Given the description of an element on the screen output the (x, y) to click on. 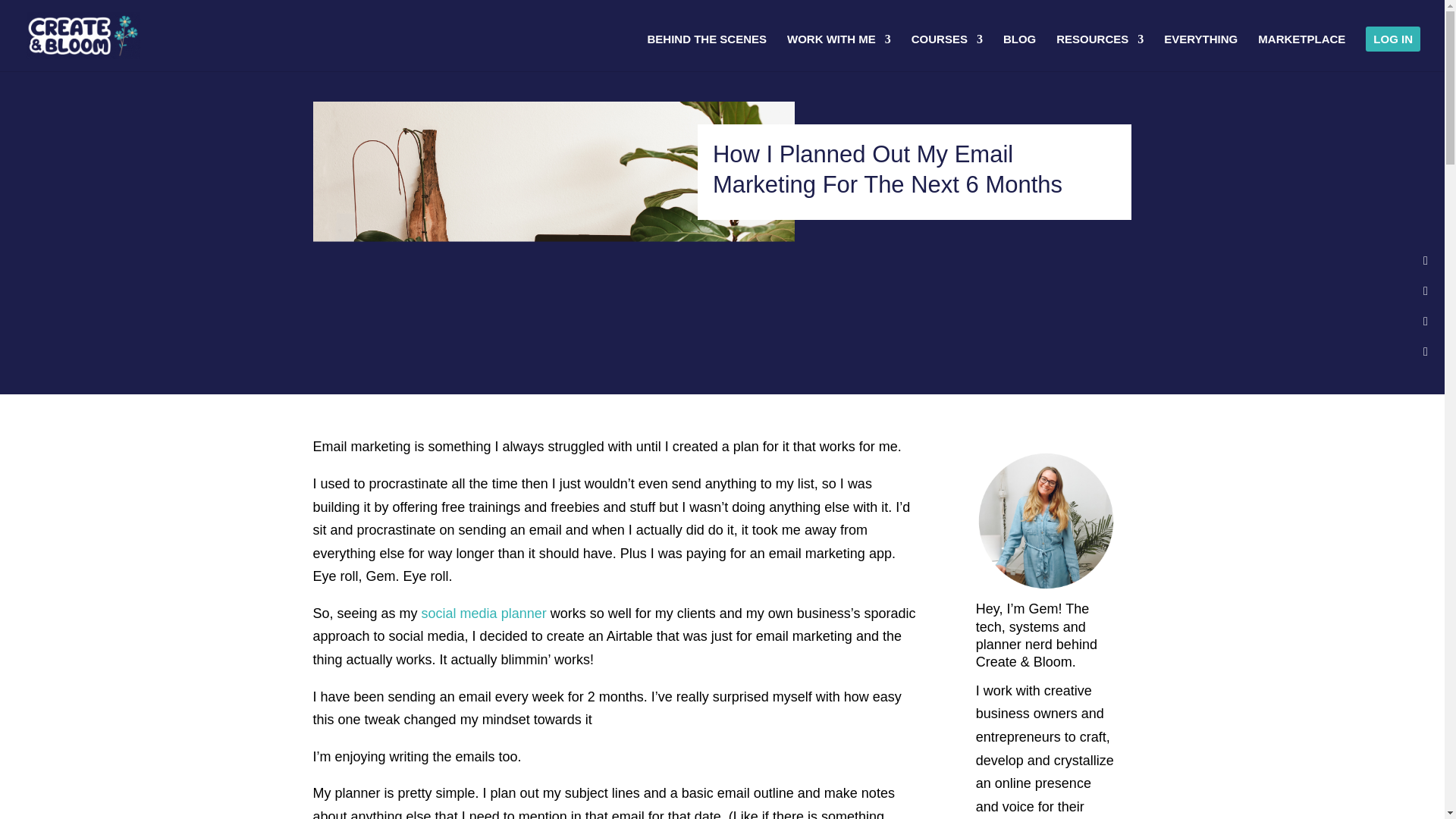
social media planner (484, 613)
How I Planned Out My Email Marketing For The Next 6 Months (553, 226)
MARKETPLACE (1301, 52)
COURSES (946, 52)
LOG IN (1392, 52)
BEHIND THE SCENES (707, 52)
WORK WITH ME (839, 52)
EVERYTHING (1200, 52)
RESOURCES (1099, 52)
